Given the description of an element on the screen output the (x, y) to click on. 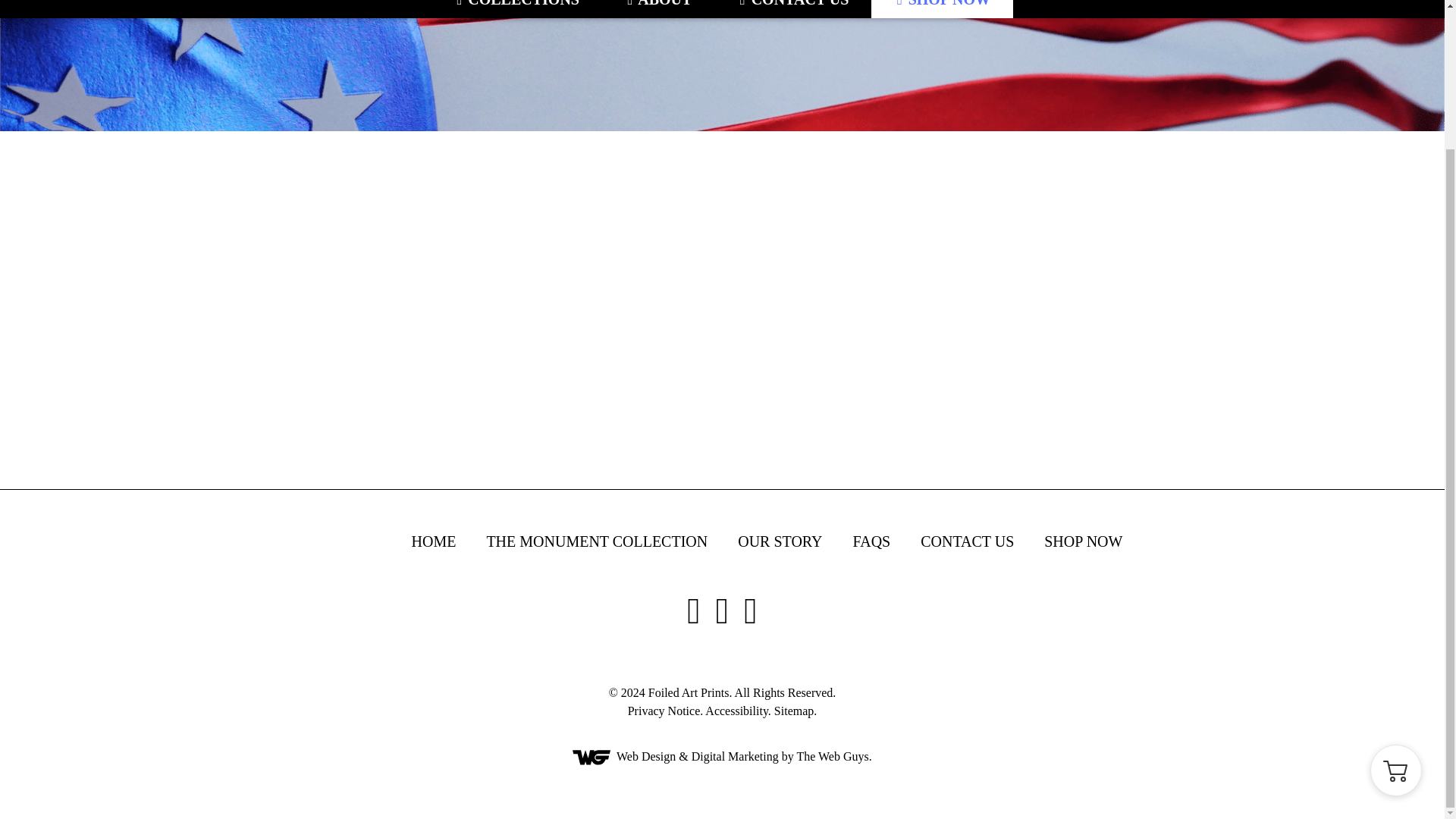
CONTACT US (966, 541)
COLLECTIONS (516, 9)
Web Design (645, 756)
SHOP NOW (1082, 541)
CONTACT US (792, 9)
Privacy Notice (663, 710)
THE MONUMENT COLLECTION (596, 541)
SHOP NOW (941, 9)
OUR STORY (780, 541)
Accessibility (736, 710)
